Given the description of an element on the screen output the (x, y) to click on. 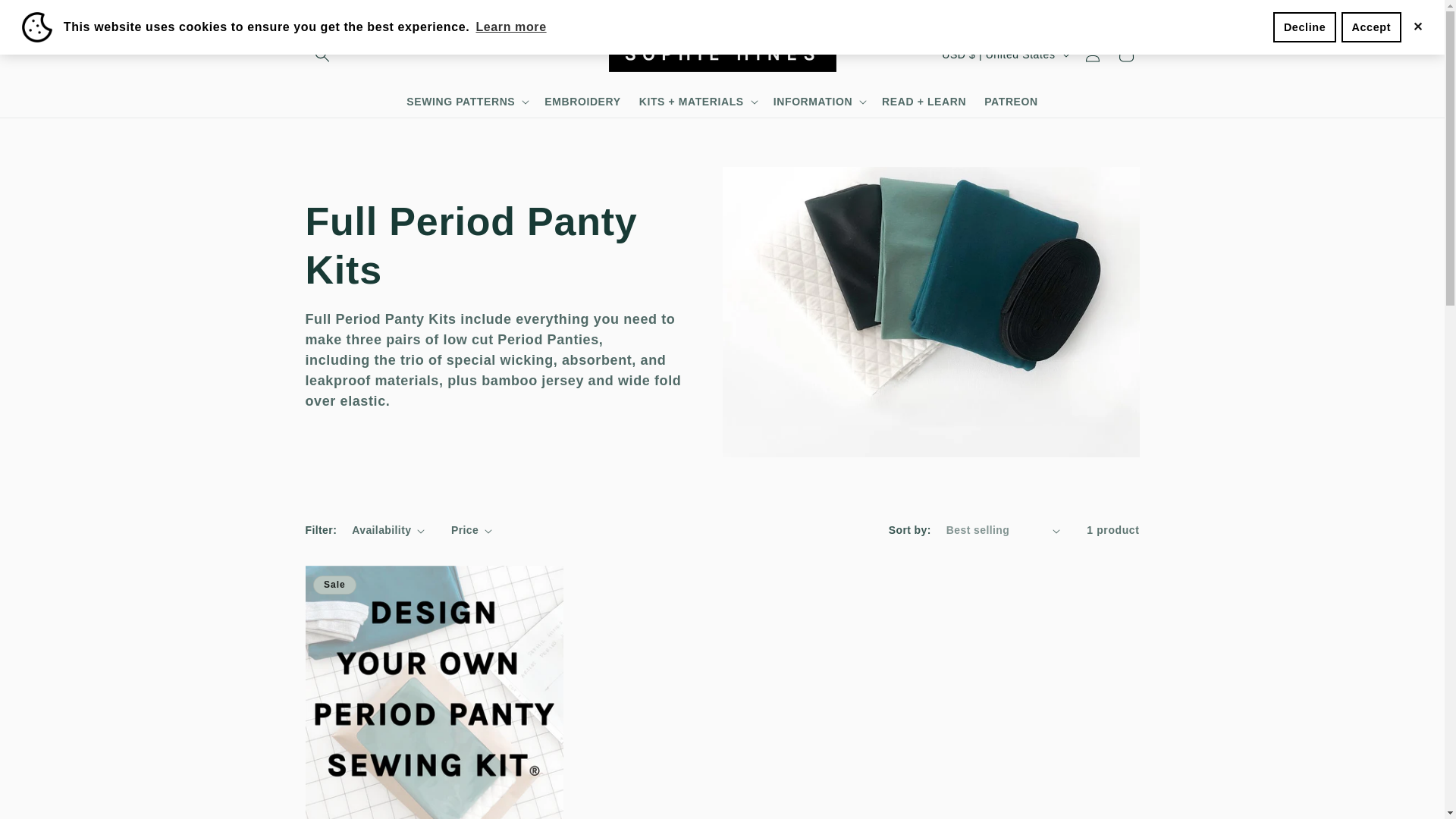
Skip to content (45, 17)
Decline (1303, 27)
Accept (1370, 27)
Learn more (510, 26)
